Given the description of an element on the screen output the (x, y) to click on. 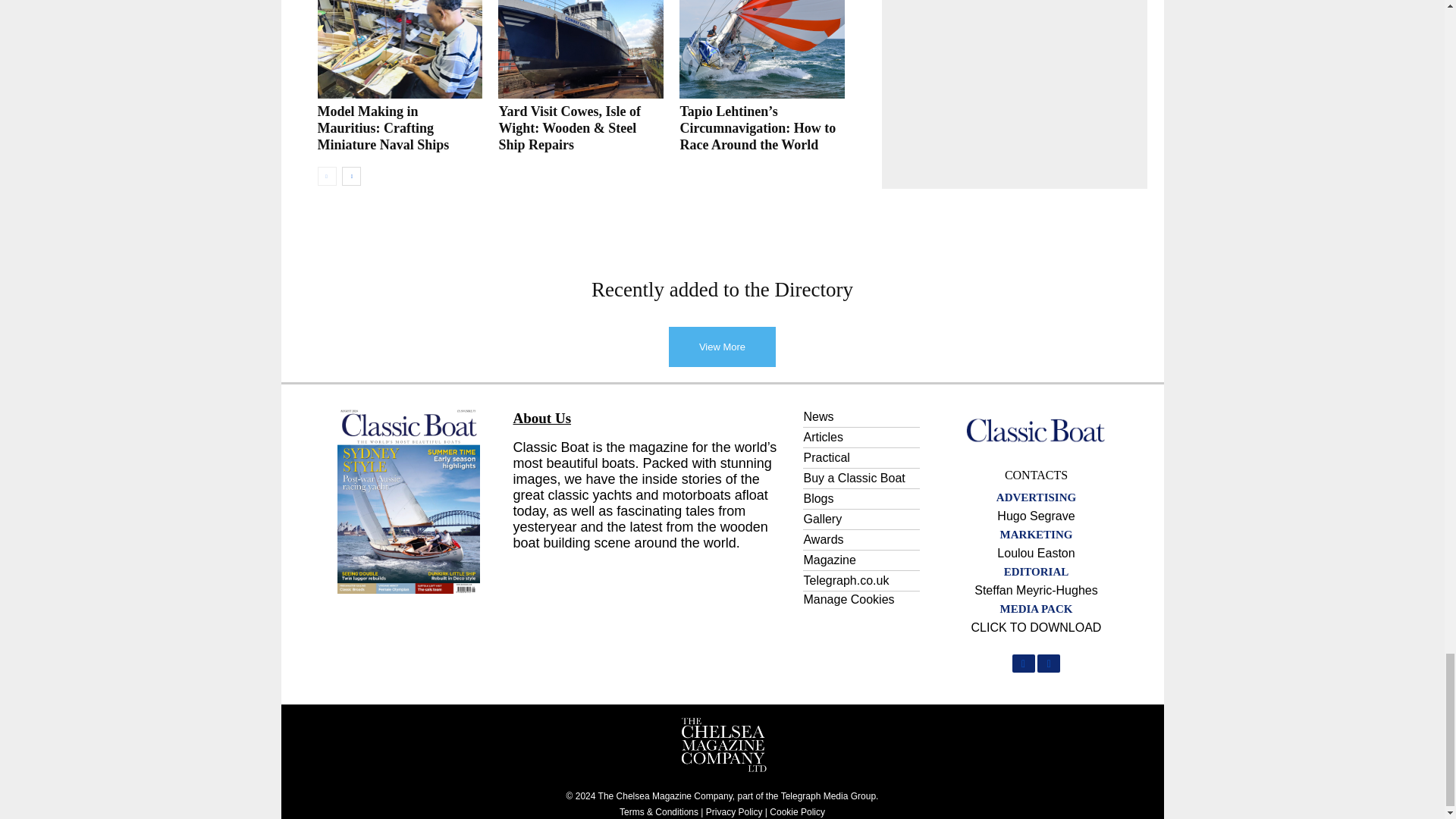
Classic Boat (1035, 429)
Model Making in Mauritius: Crafting Miniature Naval Ships (399, 49)
Model Making in Mauritius: Crafting Miniature Naval Ships (382, 128)
